Given the description of an element on the screen output the (x, y) to click on. 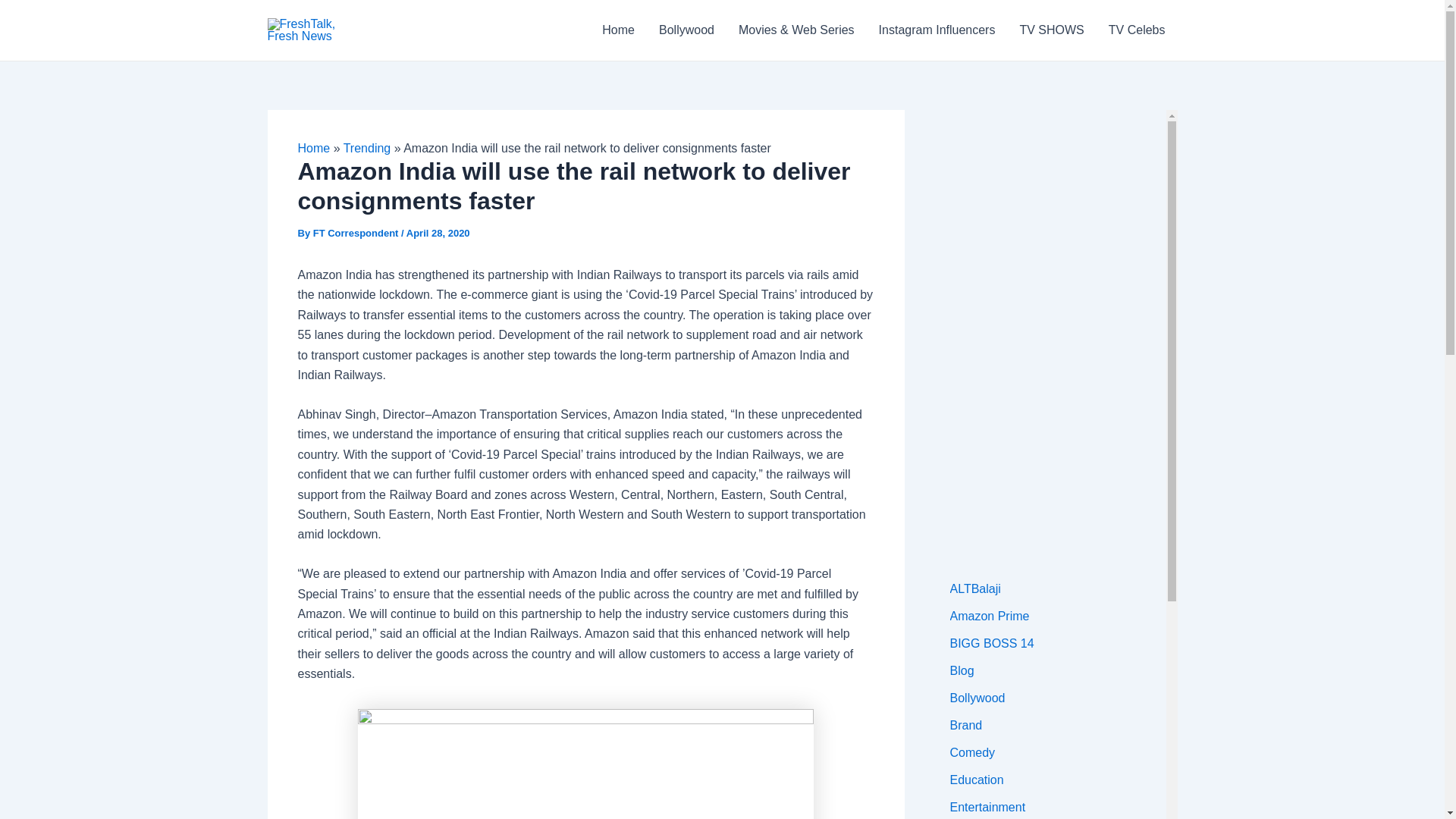
FT Correspondent (357, 233)
TV SHOWS (1051, 30)
Trending (367, 147)
Bollywood (686, 30)
Home (313, 147)
TV Celebs (1136, 30)
View all posts by FT Correspondent (357, 233)
Home (617, 30)
Instagram Influencers (936, 30)
